Given the description of an element on the screen output the (x, y) to click on. 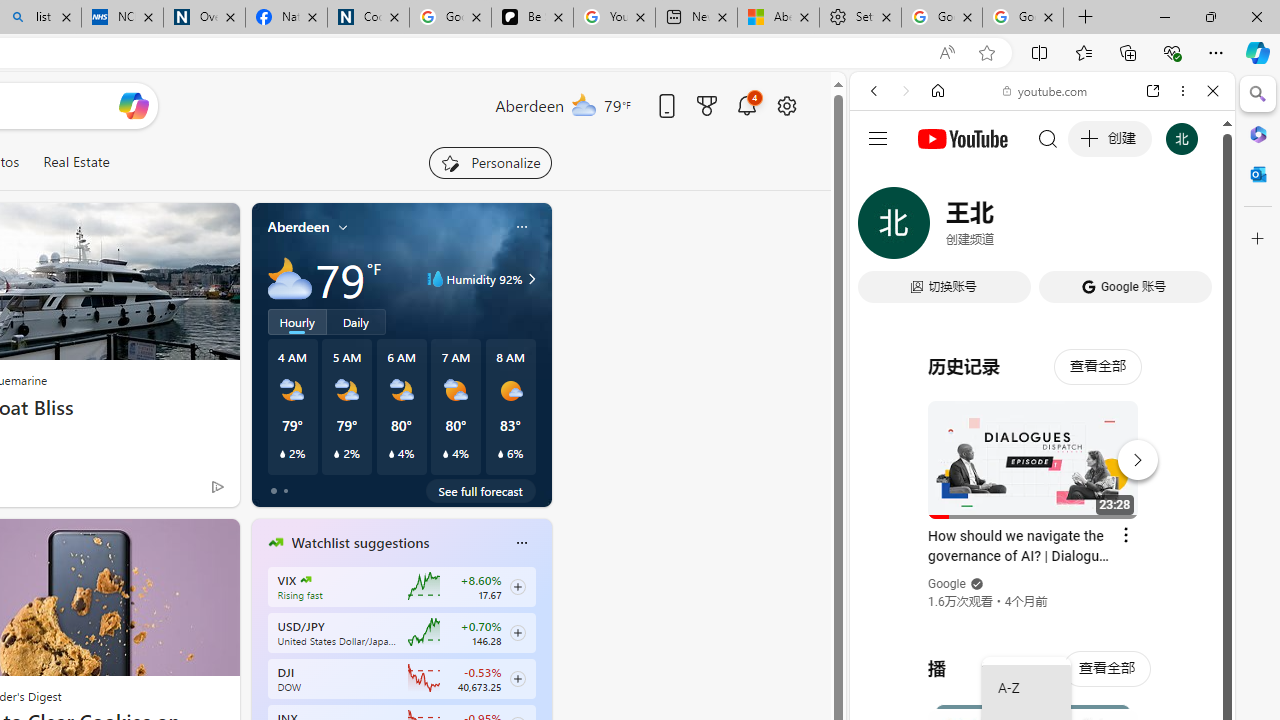
Aberdeen (298, 227)
tab-1 (285, 490)
Hourly (296, 321)
#you (1042, 445)
Class: weather-current-precipitation-glyph (500, 453)
WEB   (882, 228)
A-Z (1026, 688)
A-Z (1026, 688)
Trailer #2 [HD] (1042, 594)
Hide this story (178, 542)
